Given the description of an element on the screen output the (x, y) to click on. 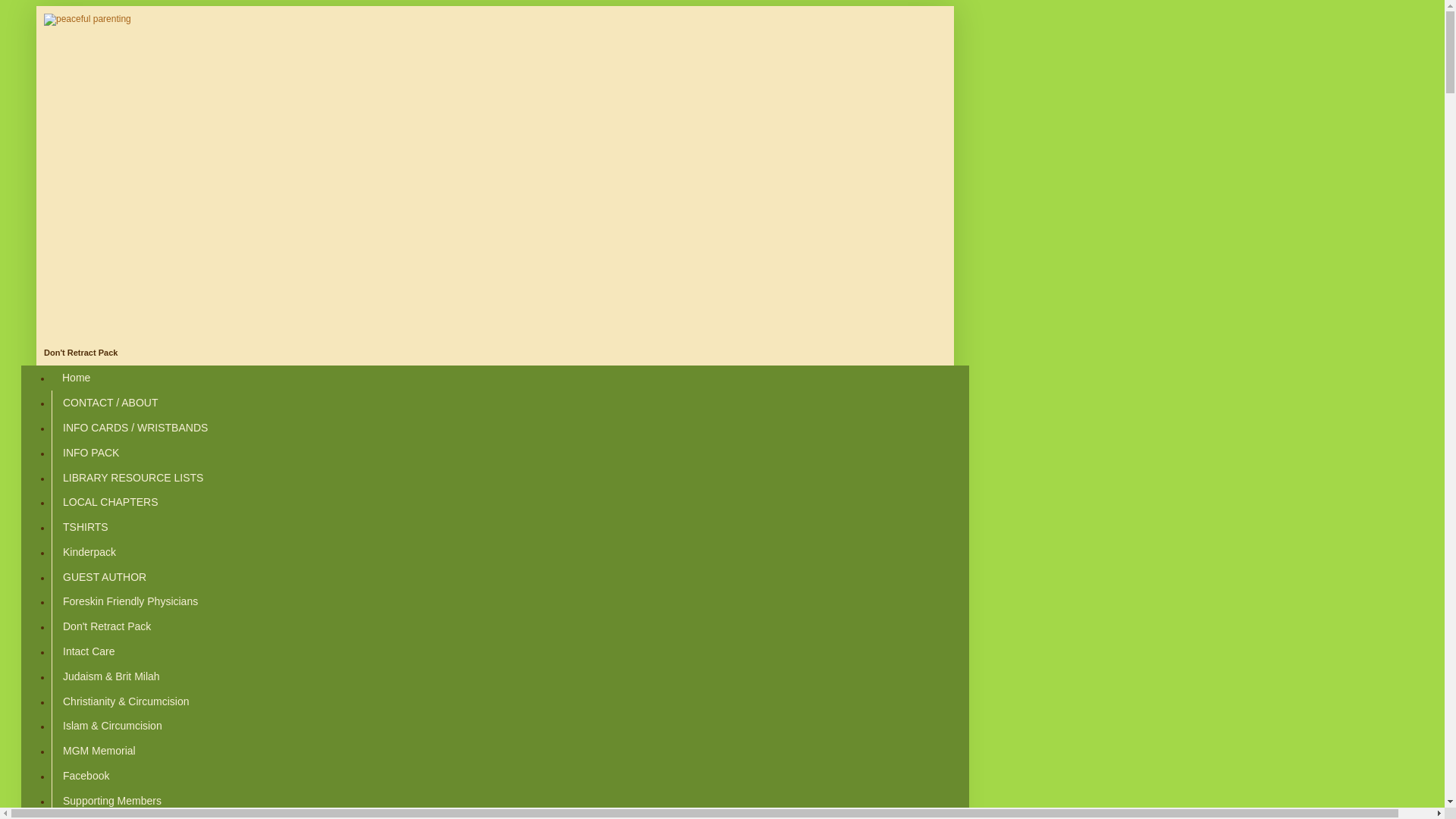
Discussion Groups (106, 816)
Don't Retract Pack (105, 626)
Foreskin Friendly Physicians (129, 601)
INFO PACK (89, 452)
TSHIRTS (84, 527)
LIBRARY RESOURCE LISTS (132, 477)
Supporting Members (110, 800)
Facebook (84, 774)
Kinderpack (88, 551)
Intact Care (87, 651)
MGM Memorial (98, 750)
Home (75, 377)
GUEST AUTHOR (103, 576)
LOCAL CHAPTERS (109, 502)
